Given the description of an element on the screen output the (x, y) to click on. 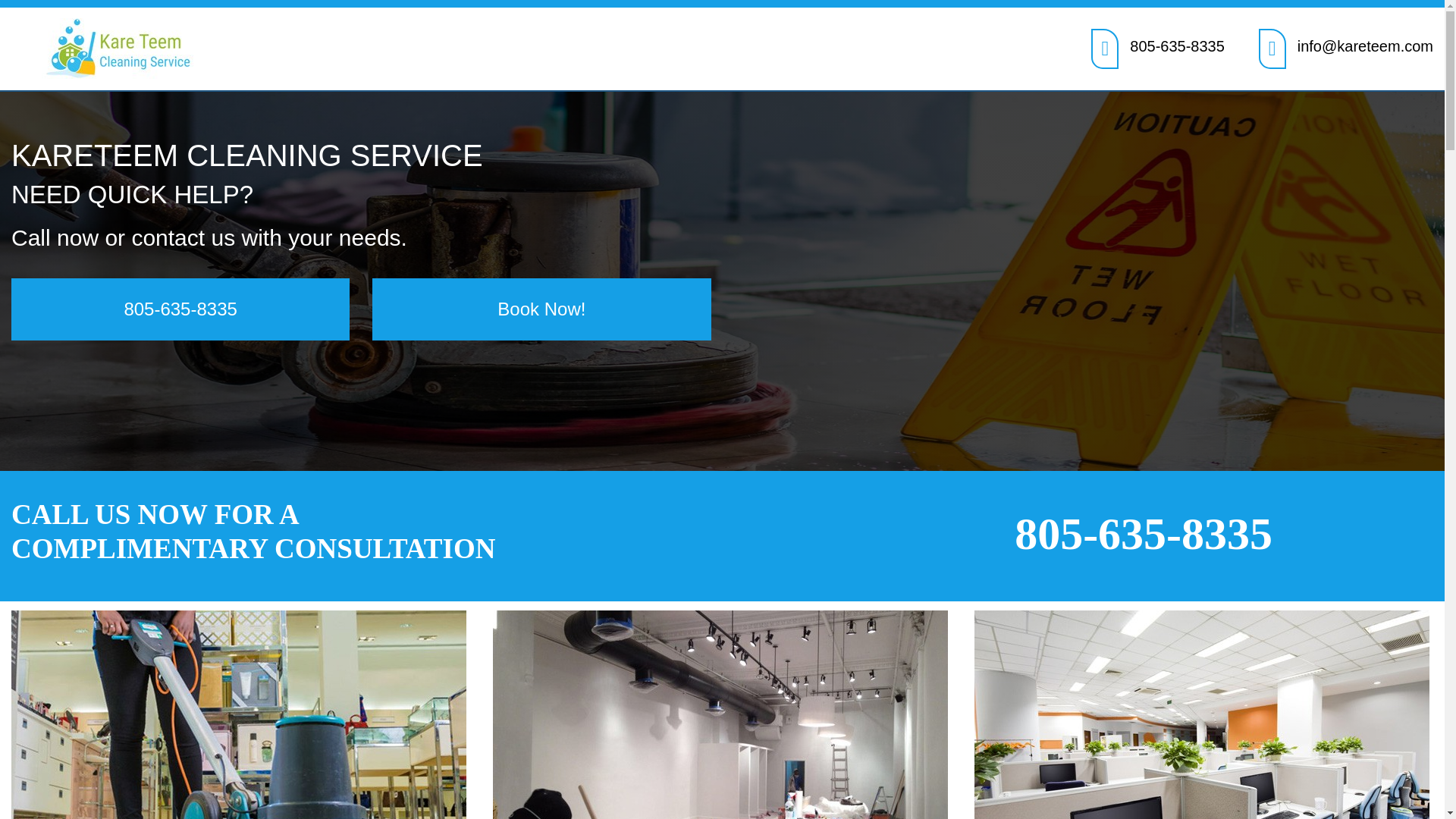
Book Now! (541, 309)
805-635-8335 (180, 309)
805-635-8335 (1142, 533)
805-635-8335 (1176, 45)
